Given the description of an element on the screen output the (x, y) to click on. 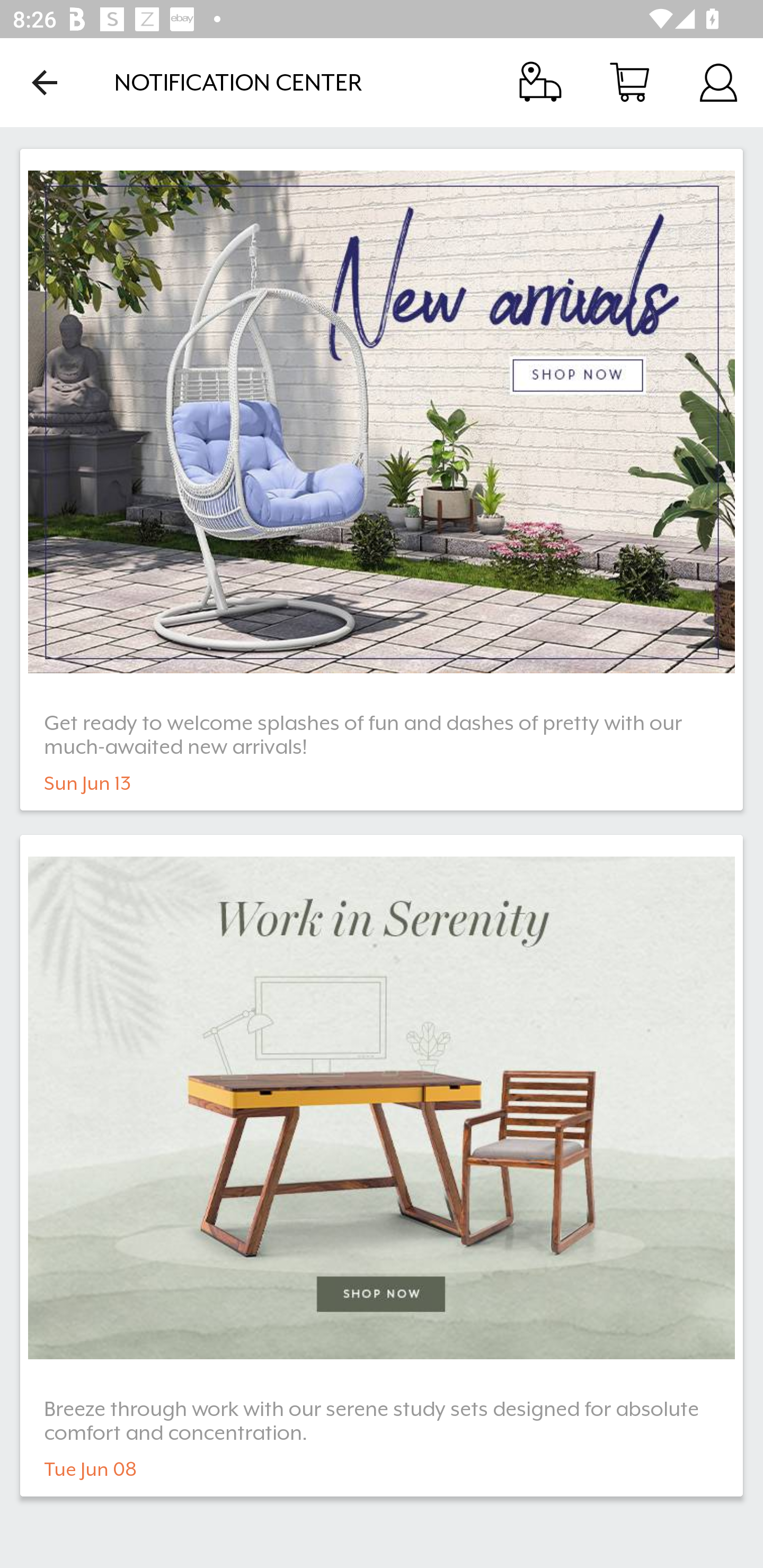
Navigate up (44, 82)
Track Order (540, 81)
Cart (629, 81)
Account Details (718, 81)
